Given the description of an element on the screen output the (x, y) to click on. 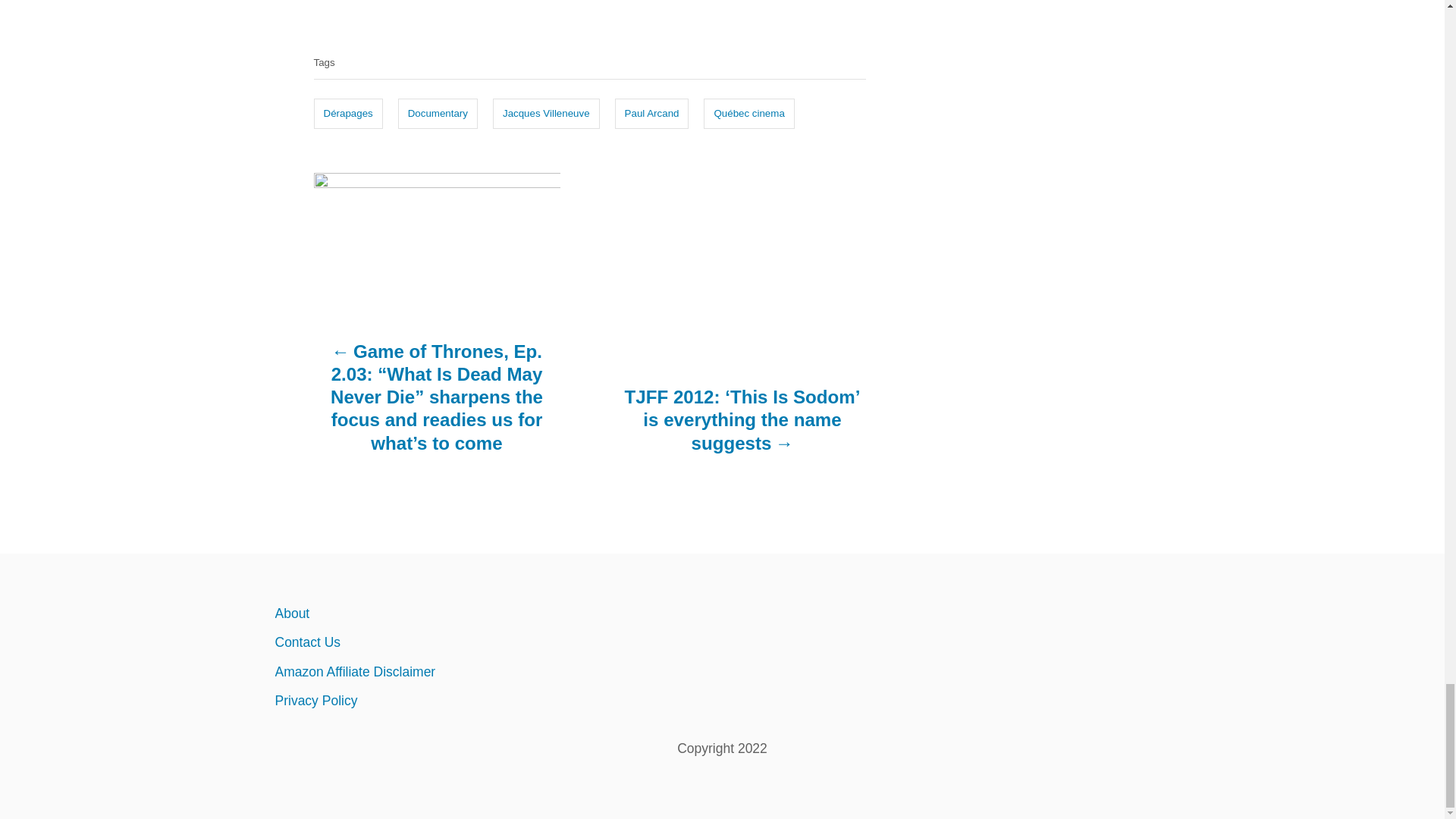
Jacques Villeneuve (546, 113)
About (406, 613)
Amazon Affiliate Disclaimer (406, 671)
Paul Arcand (651, 113)
Contact Us (406, 642)
Documentary (437, 113)
Privacy Policy (406, 700)
